Given the description of an element on the screen output the (x, y) to click on. 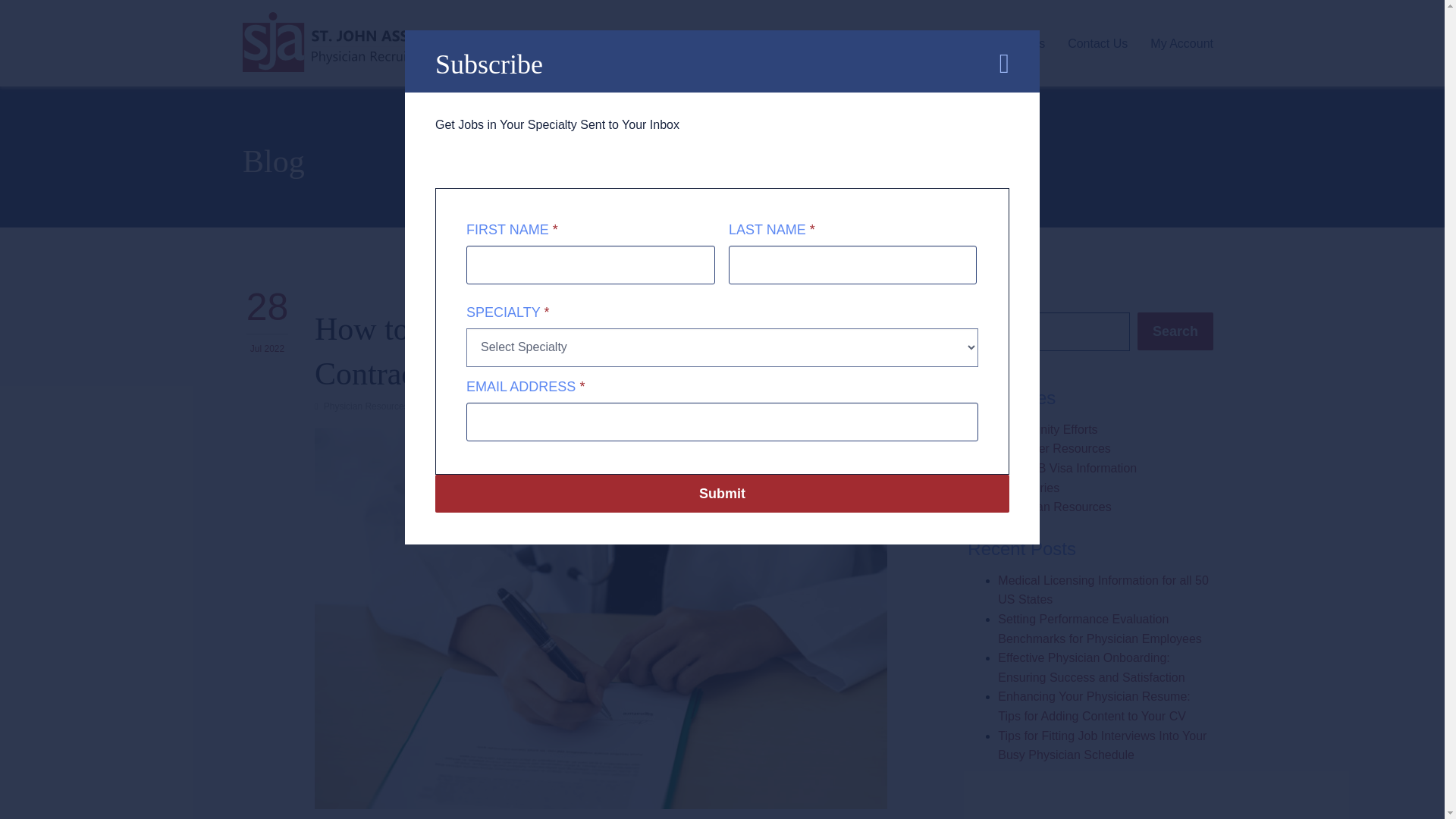
For Physicians (830, 42)
Contact Us (1097, 42)
For Employers (933, 42)
Search Physician Jobs (707, 42)
